Given the description of an element on the screen output the (x, y) to click on. 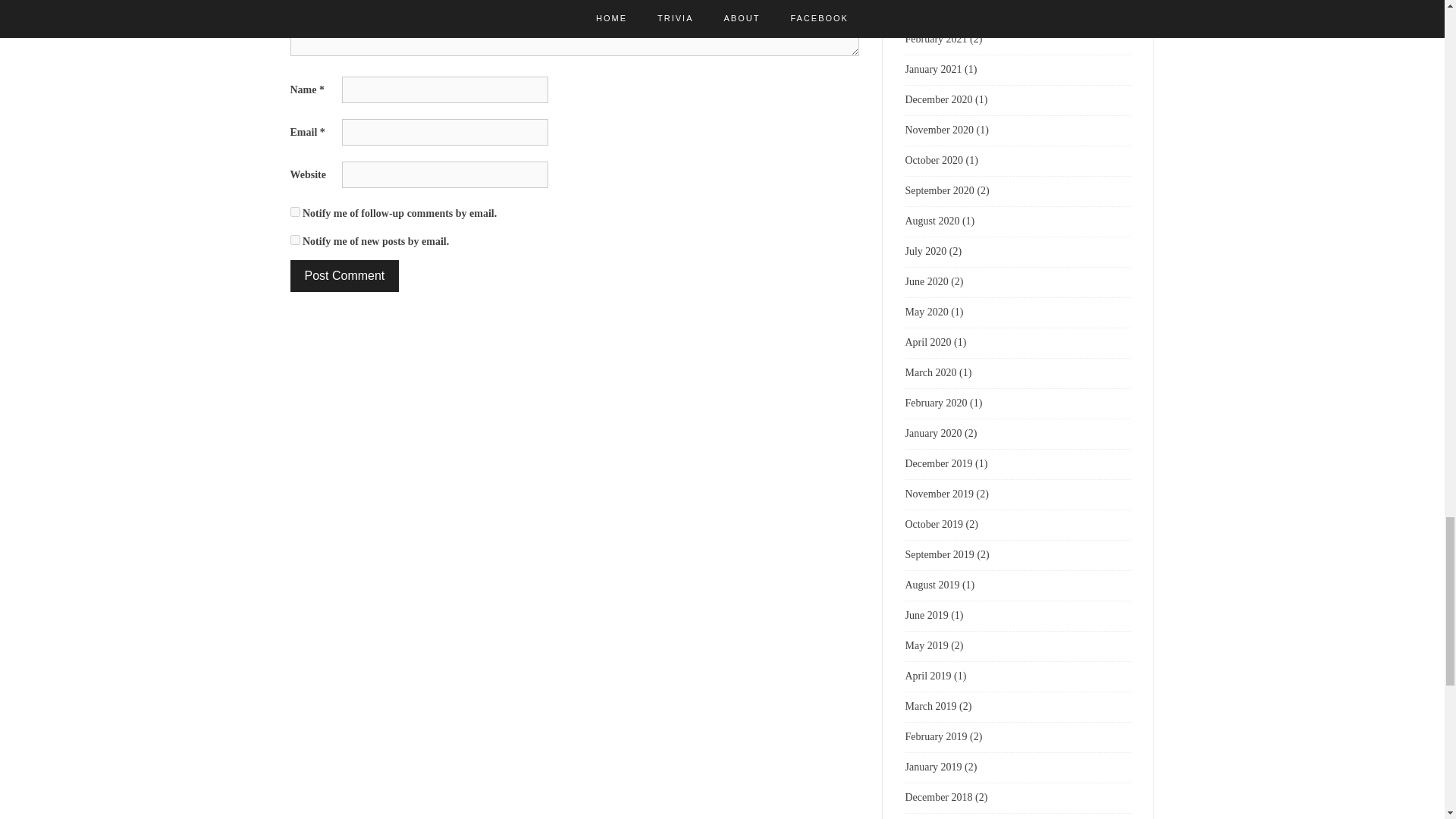
subscribe (294, 212)
Post Comment (343, 275)
subscribe (294, 239)
Post Comment (343, 275)
